Given the description of an element on the screen output the (x, y) to click on. 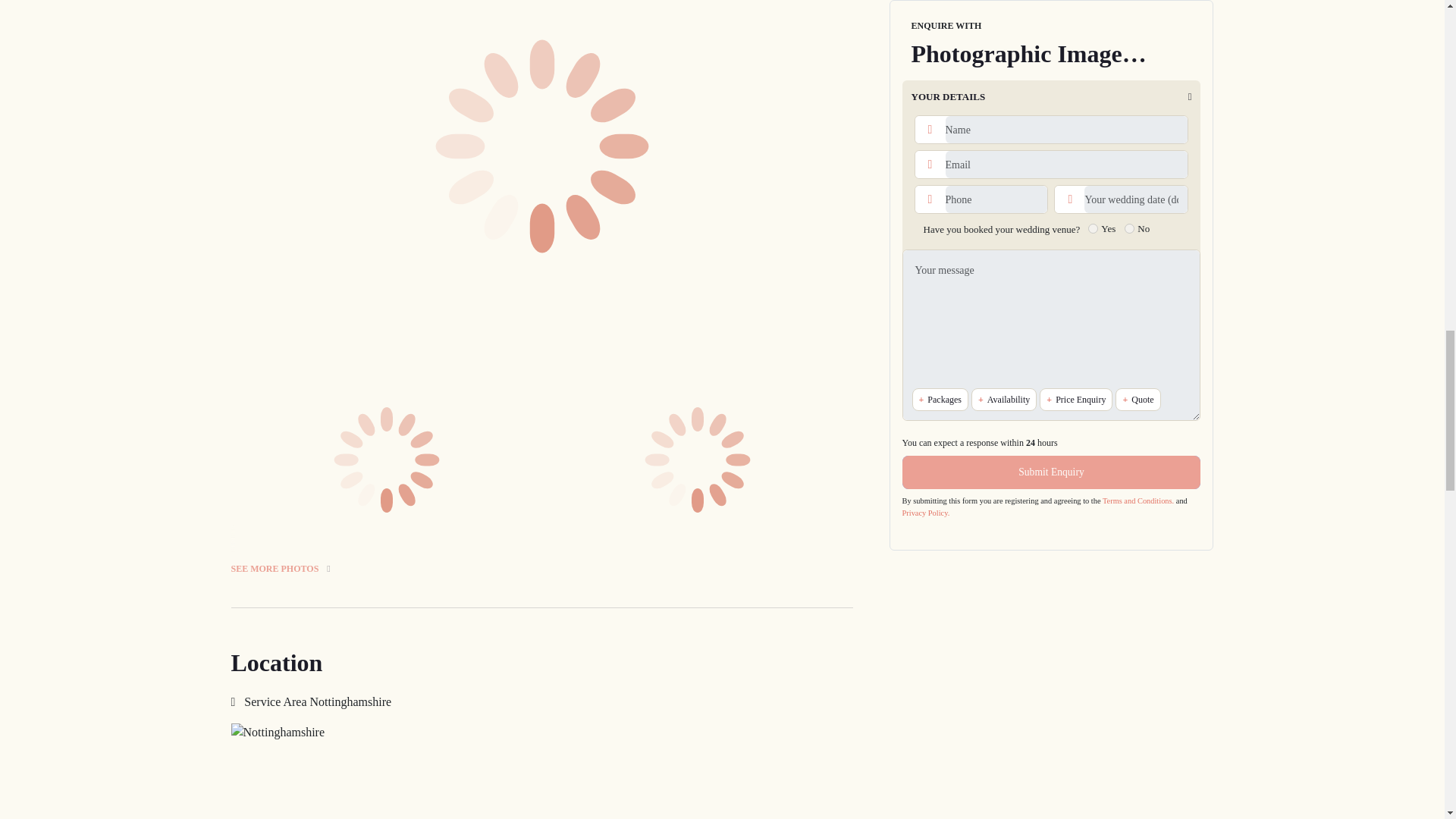
Nottinghamshire (540, 771)
SEE MORE PHOTOS (540, 551)
